Given the description of an element on the screen output the (x, y) to click on. 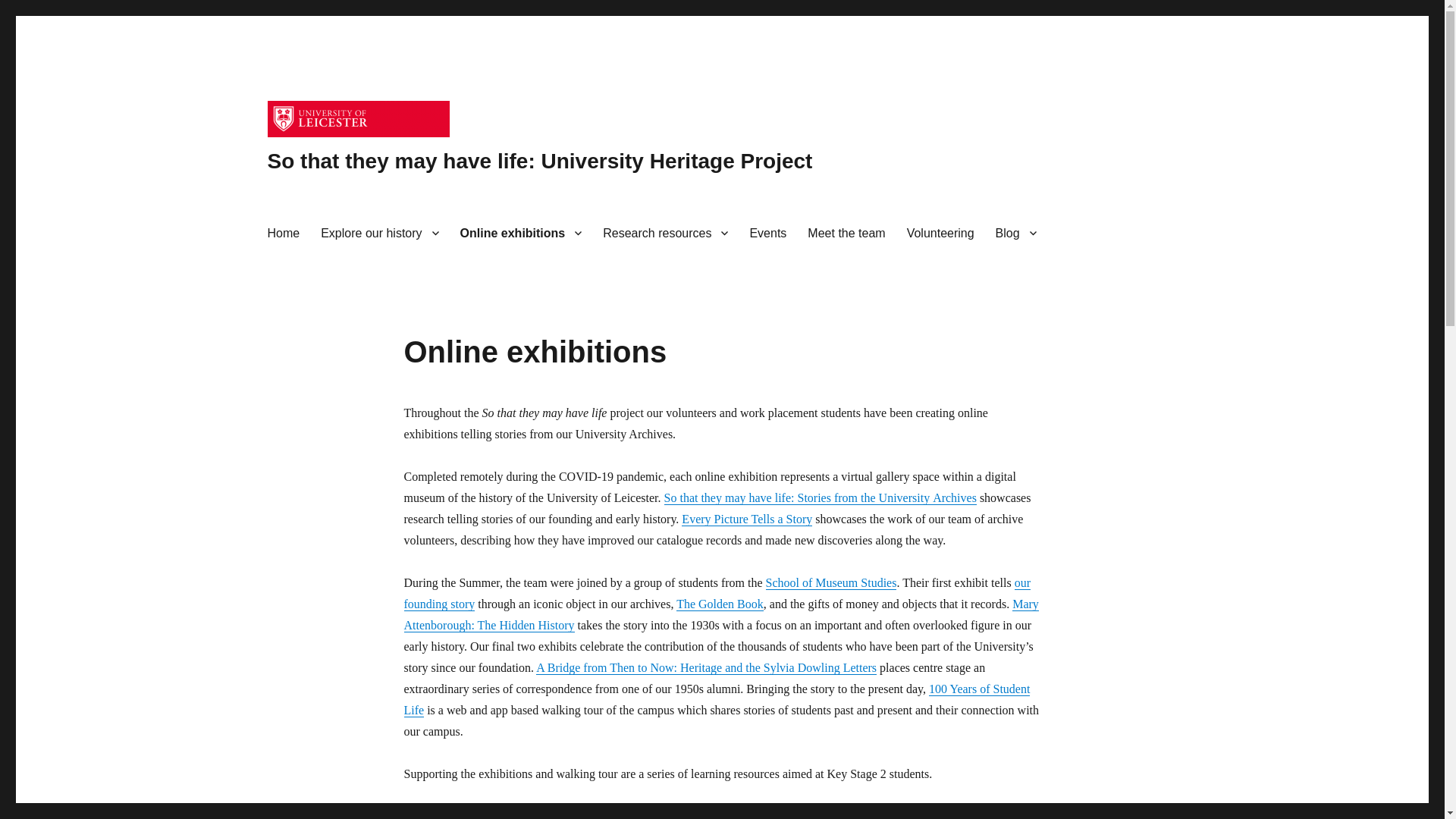
Explore our history (379, 232)
So that they may have life: University Heritage Project (539, 160)
Home (283, 232)
Online exhibitions (520, 232)
